Given the description of an element on the screen output the (x, y) to click on. 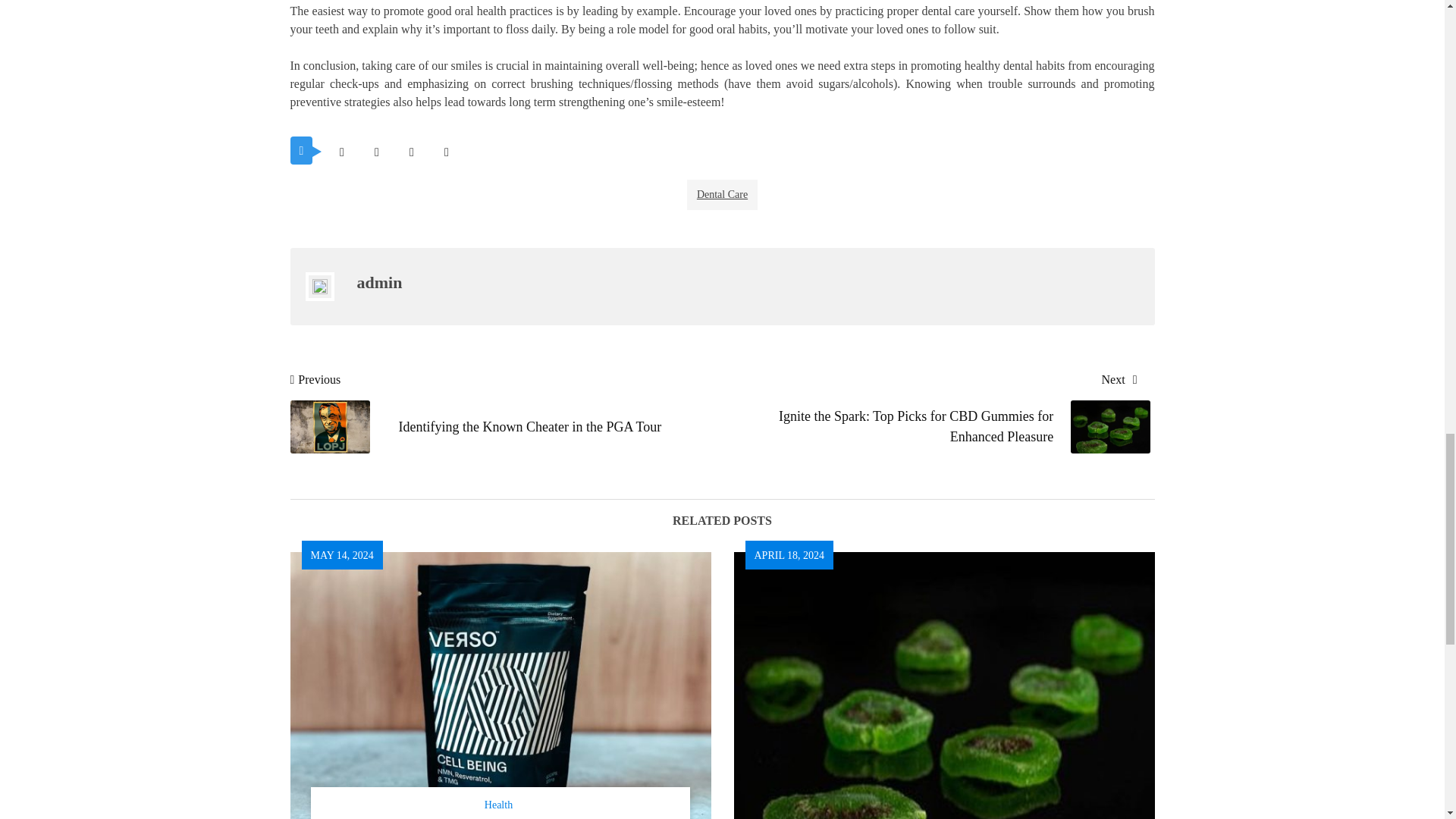
Share on Linkedin (446, 151)
Tweet This! (342, 151)
Share on Pinterest (411, 151)
Share on Facebook (376, 151)
